Given the description of an element on the screen output the (x, y) to click on. 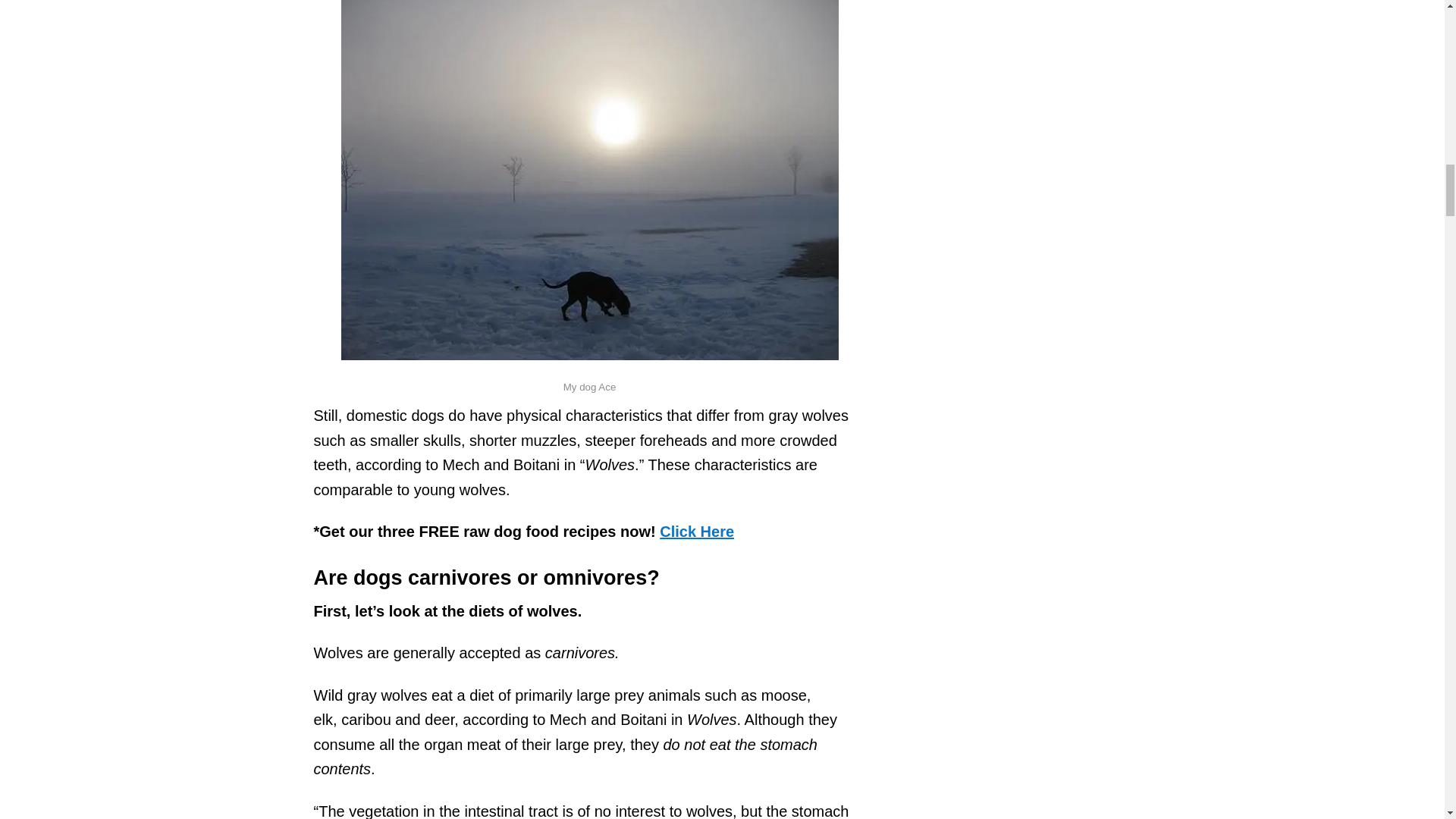
Click Here (696, 531)
